Given the description of an element on the screen output the (x, y) to click on. 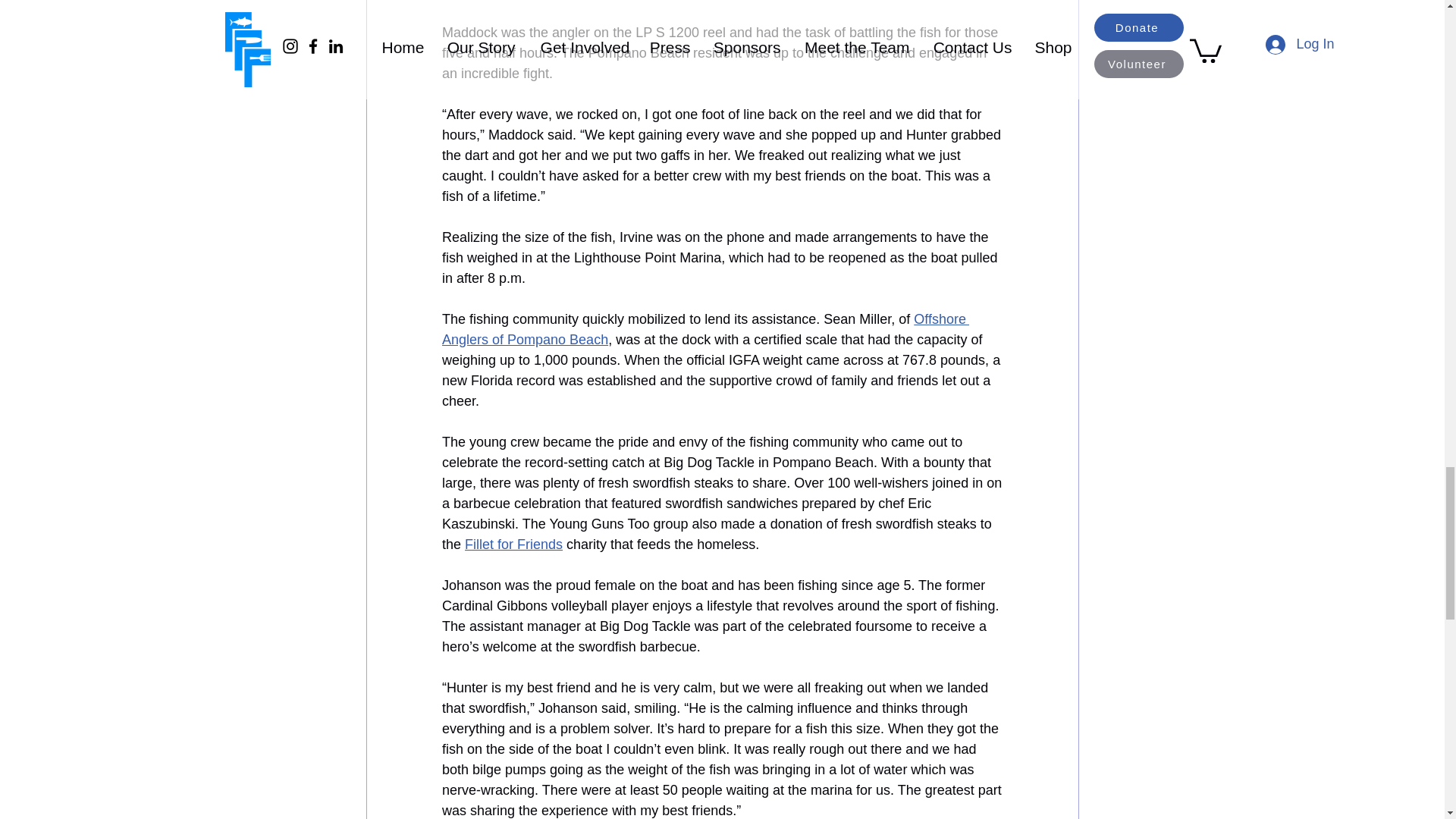
Fillet for Friends (513, 544)
Offshore Anglers of Pompano Beach (704, 329)
